Given the description of an element on the screen output the (x, y) to click on. 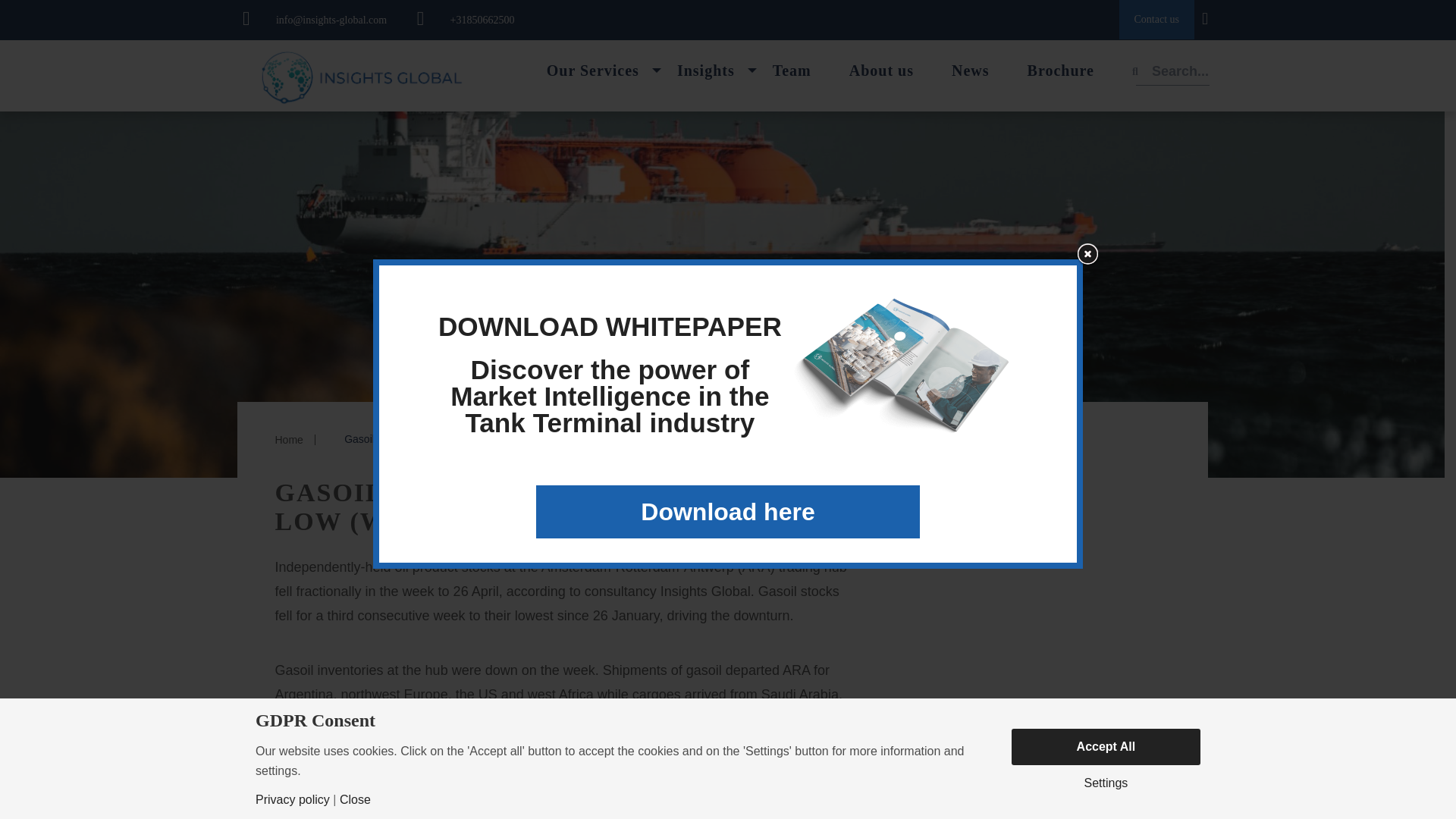
Insights (706, 69)
Home (288, 439)
Brochure (1060, 69)
Contact us (1157, 19)
Search... (1179, 71)
Search... (1179, 71)
Team (791, 69)
About us (881, 69)
Our Services (593, 69)
News (971, 69)
